Given the description of an element on the screen output the (x, y) to click on. 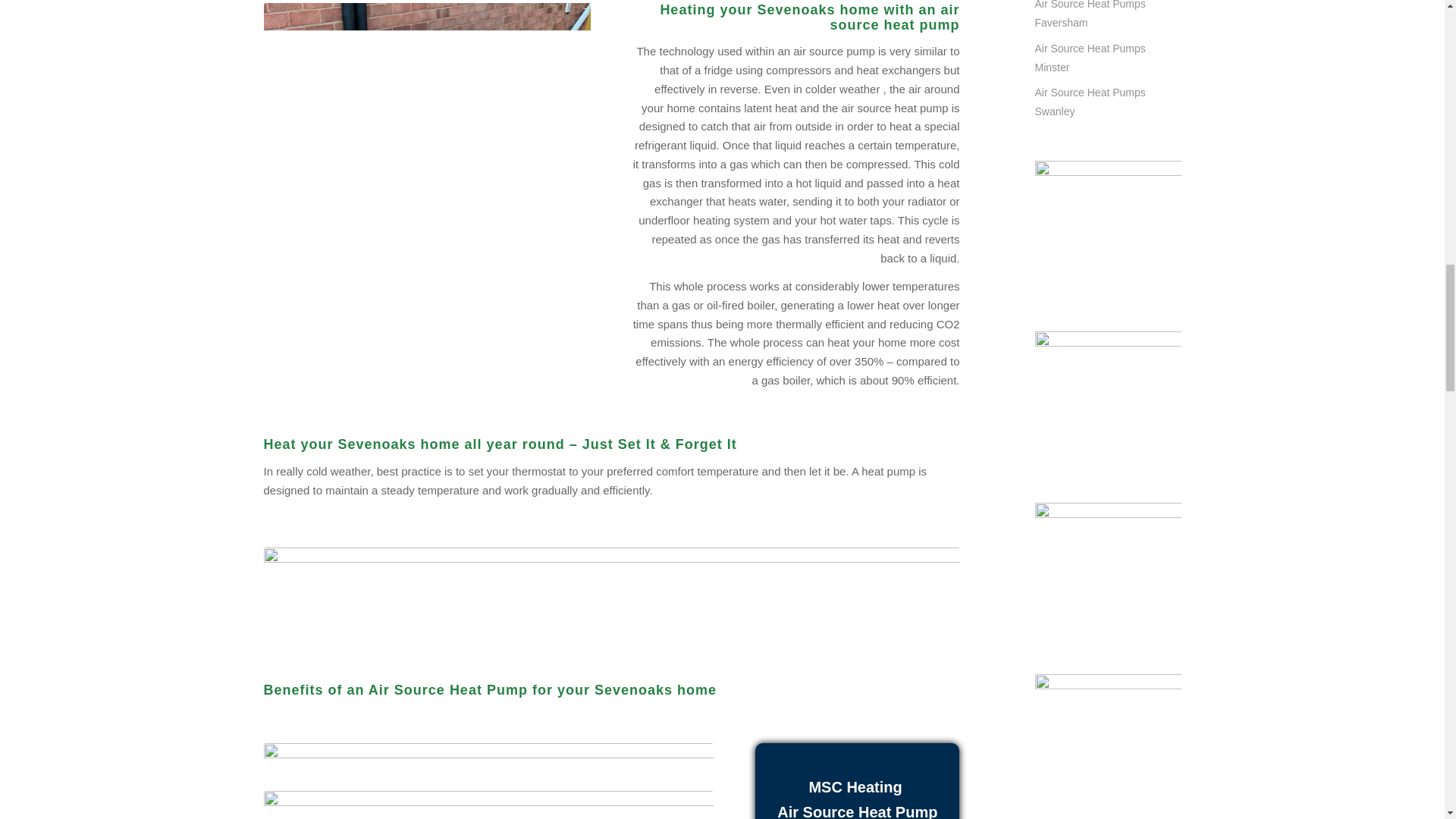
air-source-heat-pump-advantages (611, 596)
air-source-heat-pumps-co2emissions (488, 805)
air-source-heat-pumps-energy-efficiency (488, 764)
air-source-heat-pumps-body-left (427, 166)
